Given the description of an element on the screen output the (x, y) to click on. 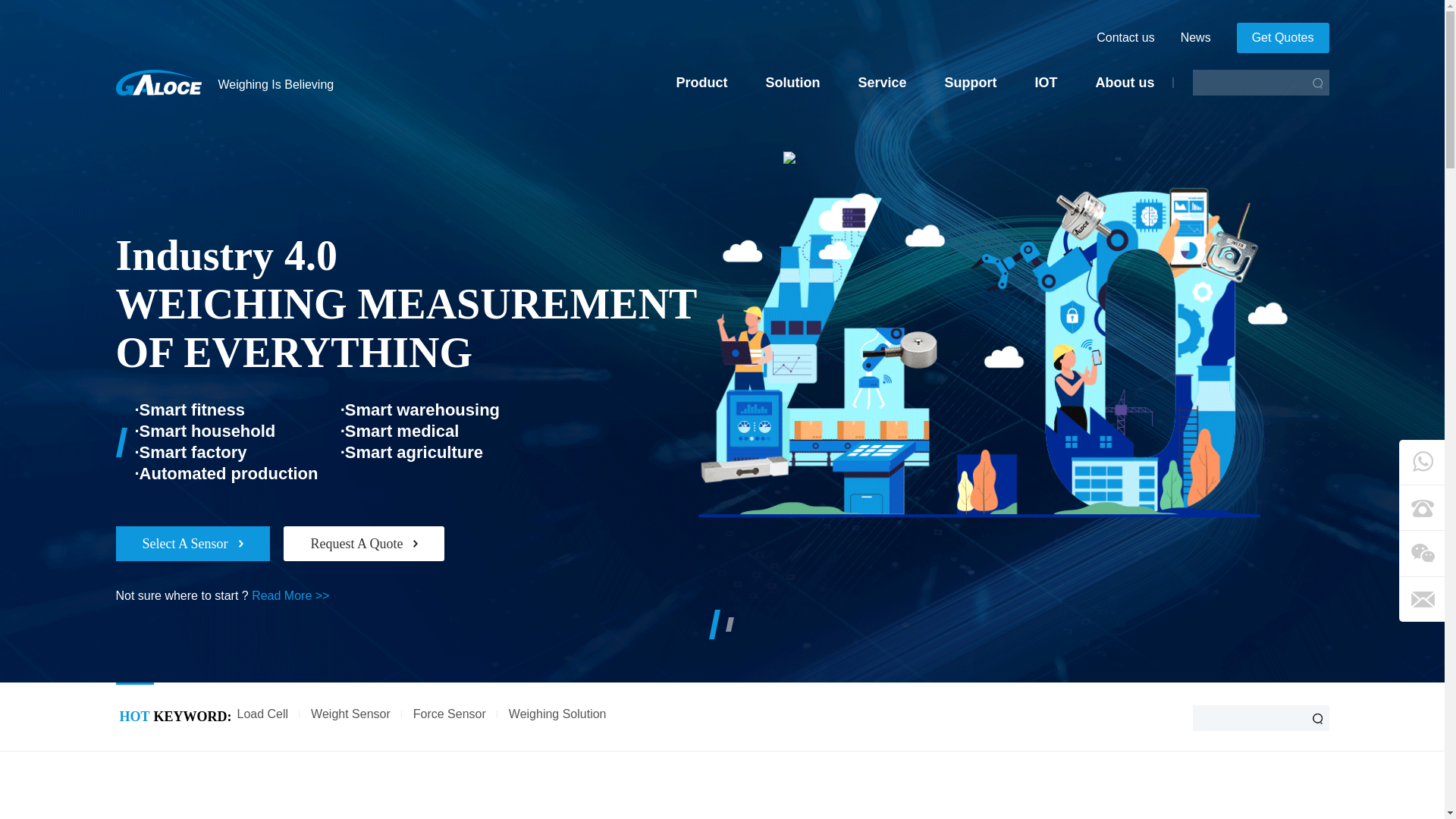
Contact us (1125, 37)
Product (700, 82)
Get Quotes (1282, 37)
News (1195, 37)
